Given the description of an element on the screen output the (x, y) to click on. 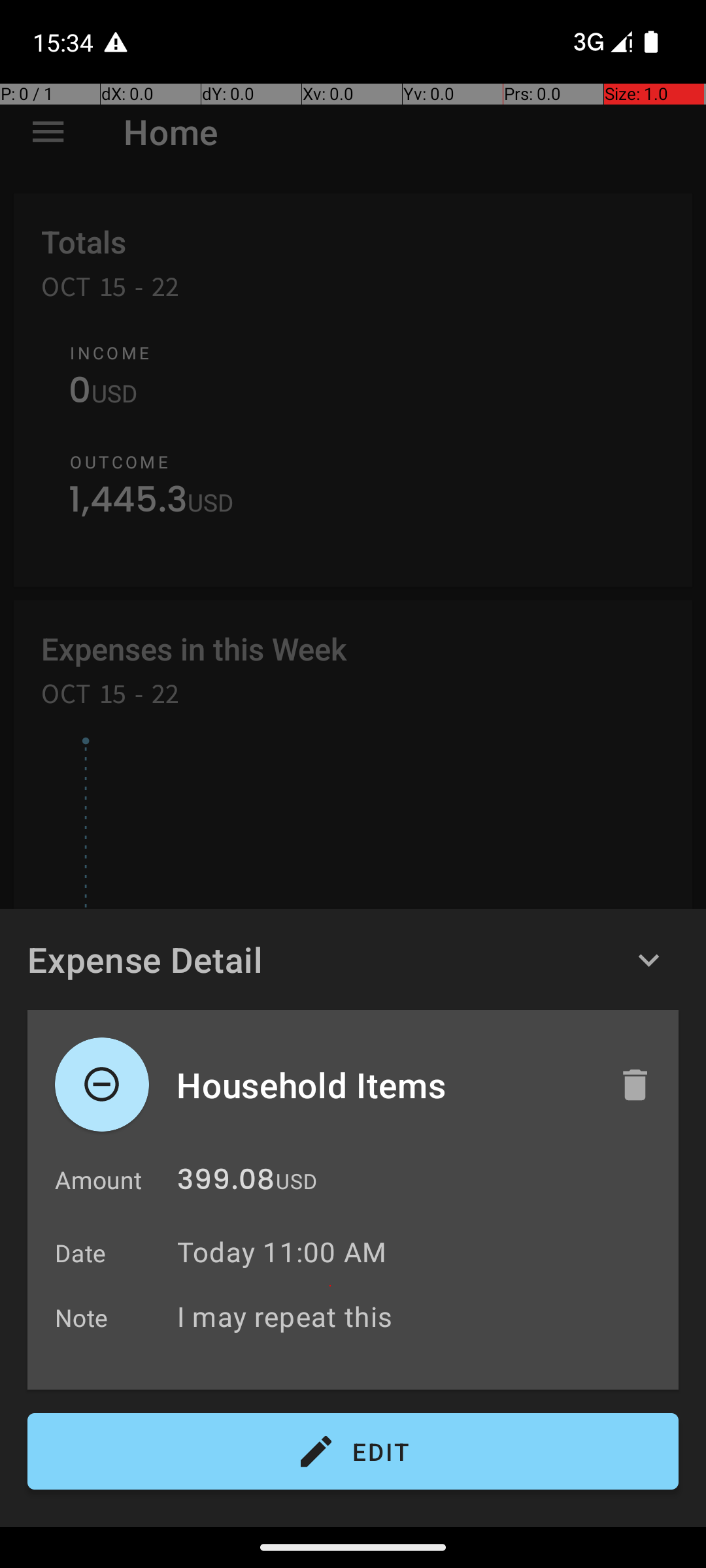
Household Items Element type: android.widget.TextView (383, 1084)
399.08 Element type: android.widget.TextView (225, 1182)
Today 11:00 AM Element type: android.widget.TextView (281, 1251)
I may repeat this Element type: android.widget.TextView (420, 1315)
